Given the description of an element on the screen output the (x, y) to click on. 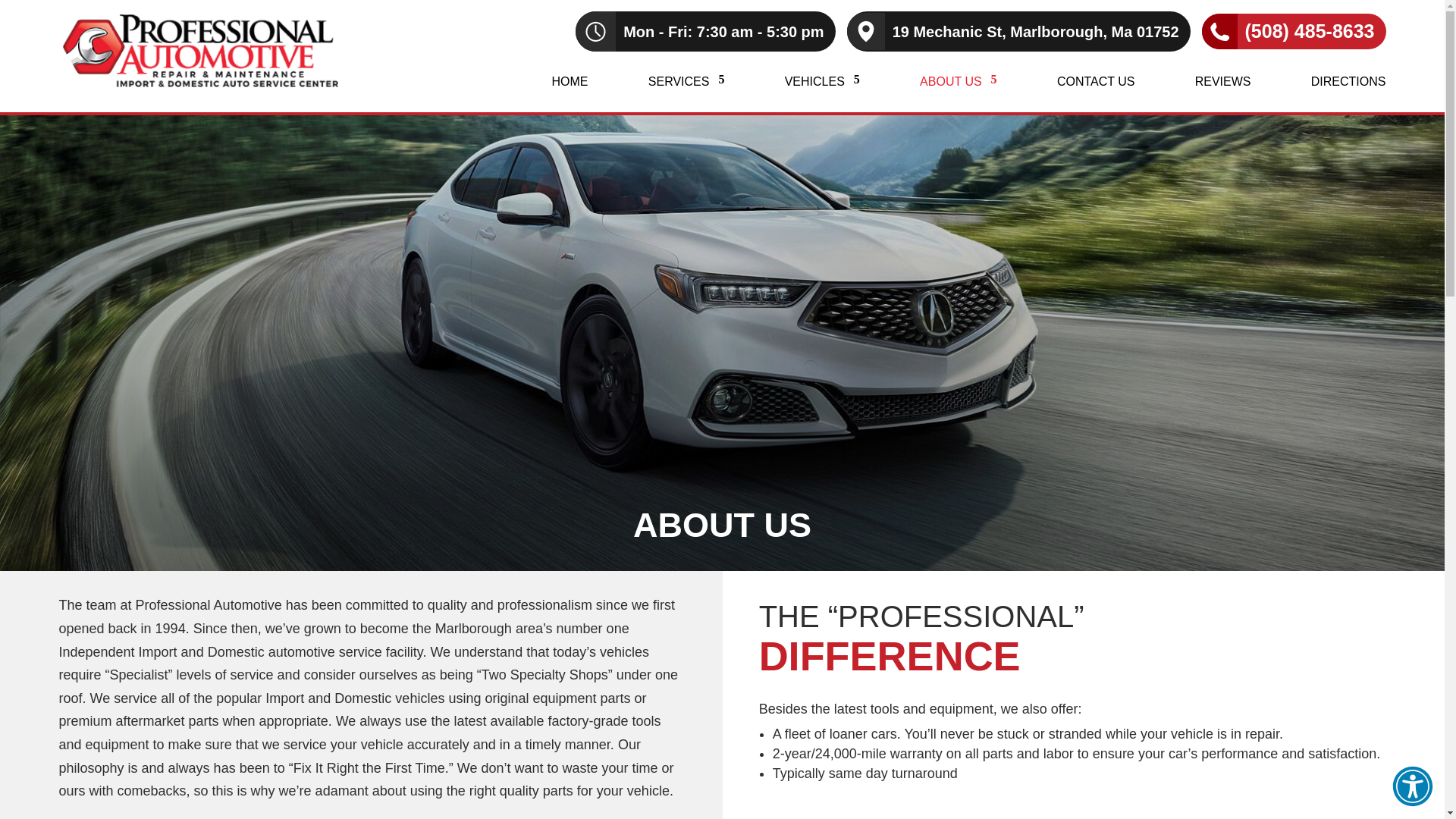
HOME (569, 94)
SERVICES (686, 94)
VEHICLES (822, 94)
